Given the description of an element on the screen output the (x, y) to click on. 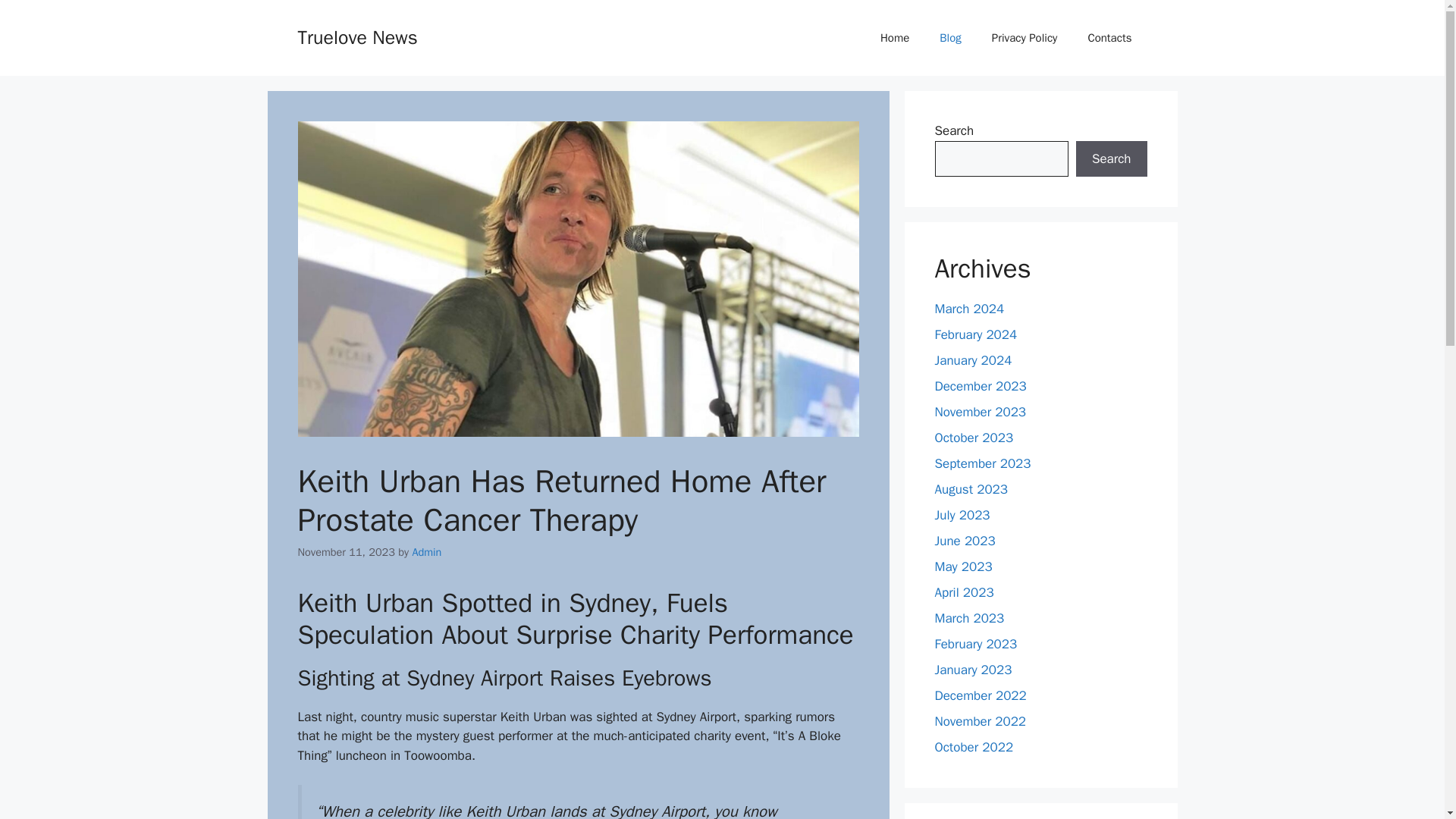
Admin (426, 551)
November 2023 (980, 412)
December 2022 (980, 695)
Blog (949, 37)
January 2024 (972, 360)
May 2023 (962, 566)
Contacts (1109, 37)
February 2024 (975, 334)
March 2023 (969, 618)
June 2023 (964, 540)
